Given the description of an element on the screen output the (x, y) to click on. 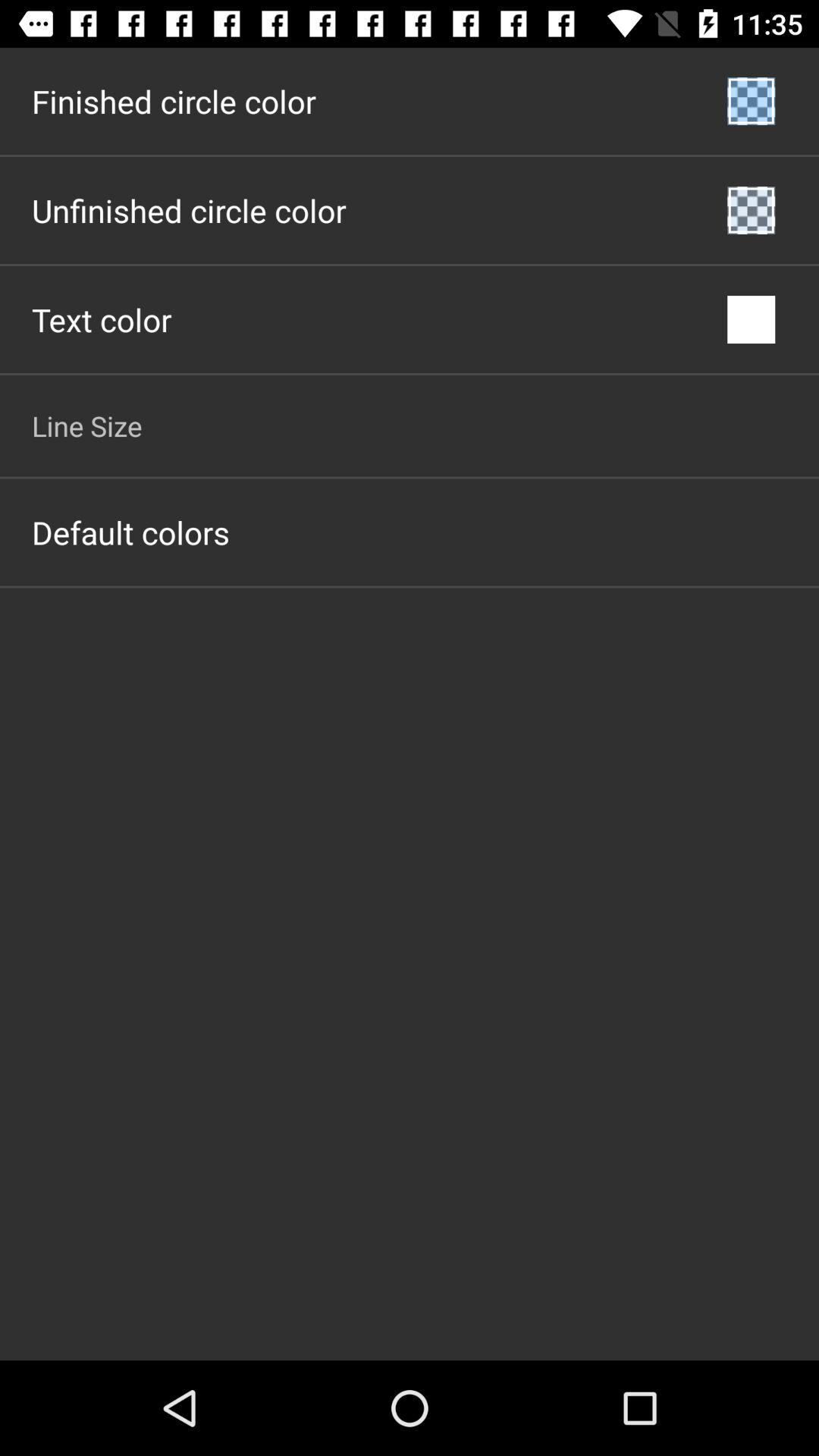
click the app above the default colors item (86, 425)
